Given the description of an element on the screen output the (x, y) to click on. 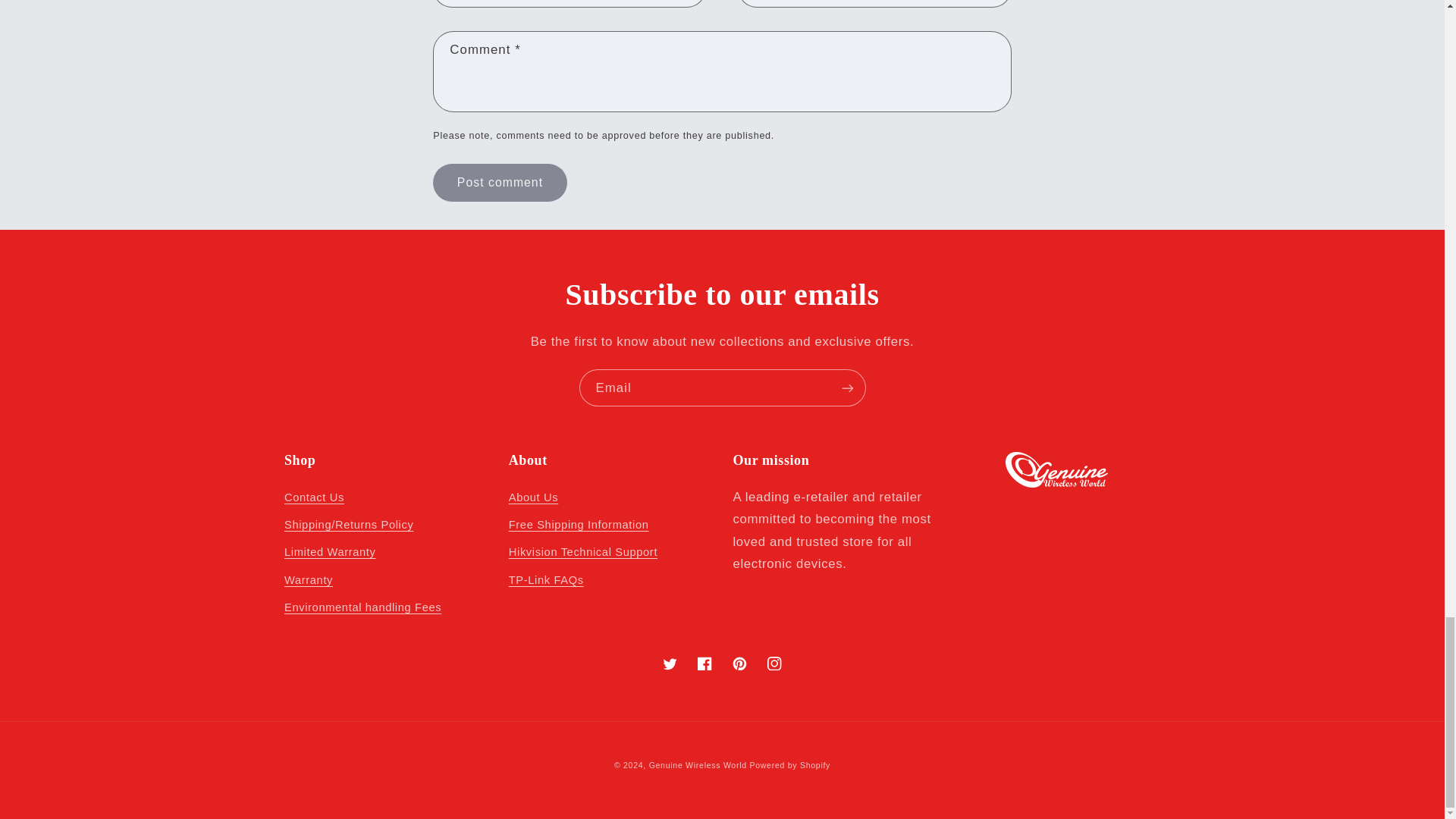
Post comment (499, 181)
